Given the description of an element on the screen output the (x, y) to click on. 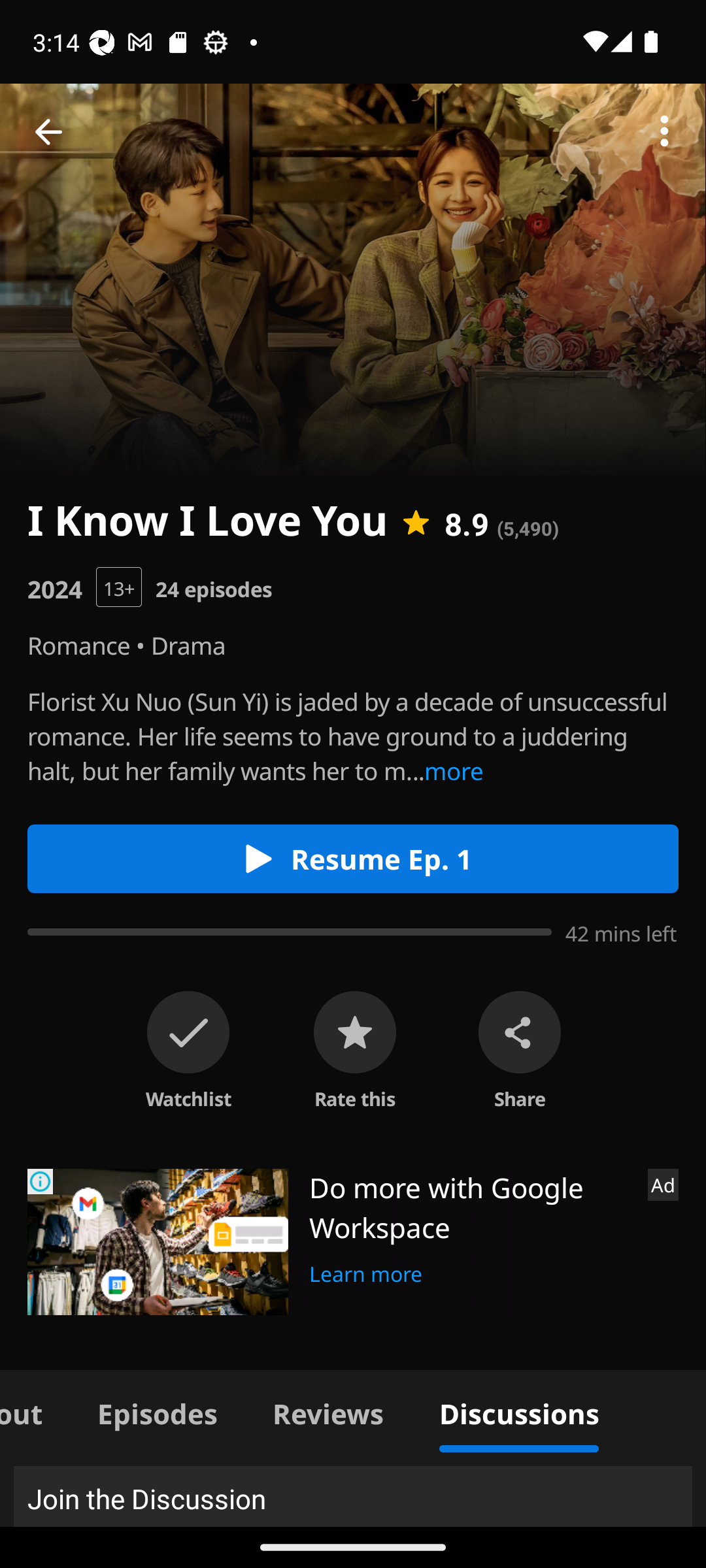
More (664, 131)
on (187, 1032)
Ad Choices Icon (39, 1181)
Do more with Google Workspace (471, 1207)
Learn more (365, 1271)
Episodes (156, 1410)
Reviews (327, 1410)
Join the Discussion (352, 1496)
